Given the description of an element on the screen output the (x, y) to click on. 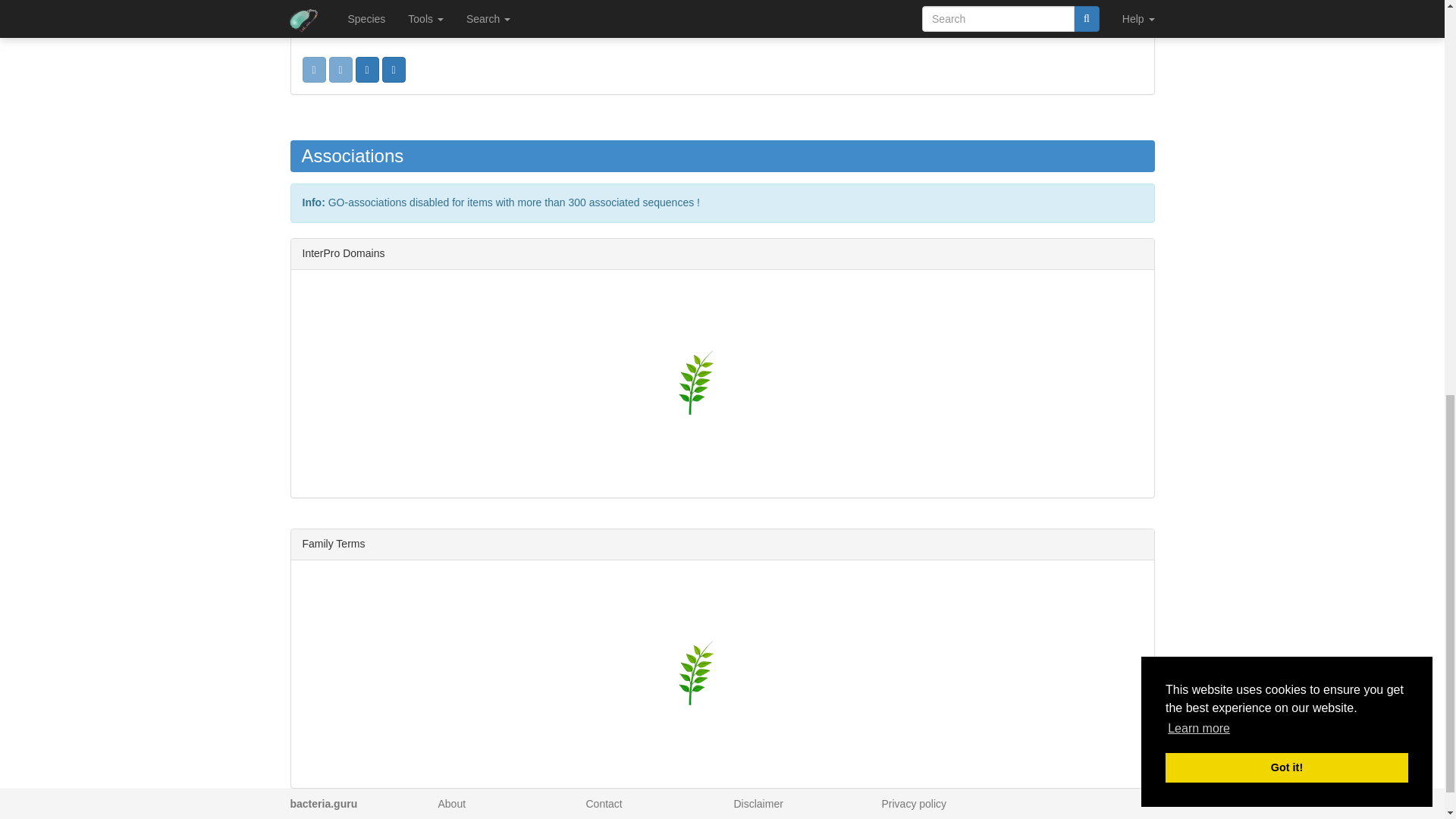
bacteria.guru (322, 10)
Contact (603, 10)
About (451, 10)
Privacy policy (913, 10)
Disclaimer (758, 10)
